Given the description of an element on the screen output the (x, y) to click on. 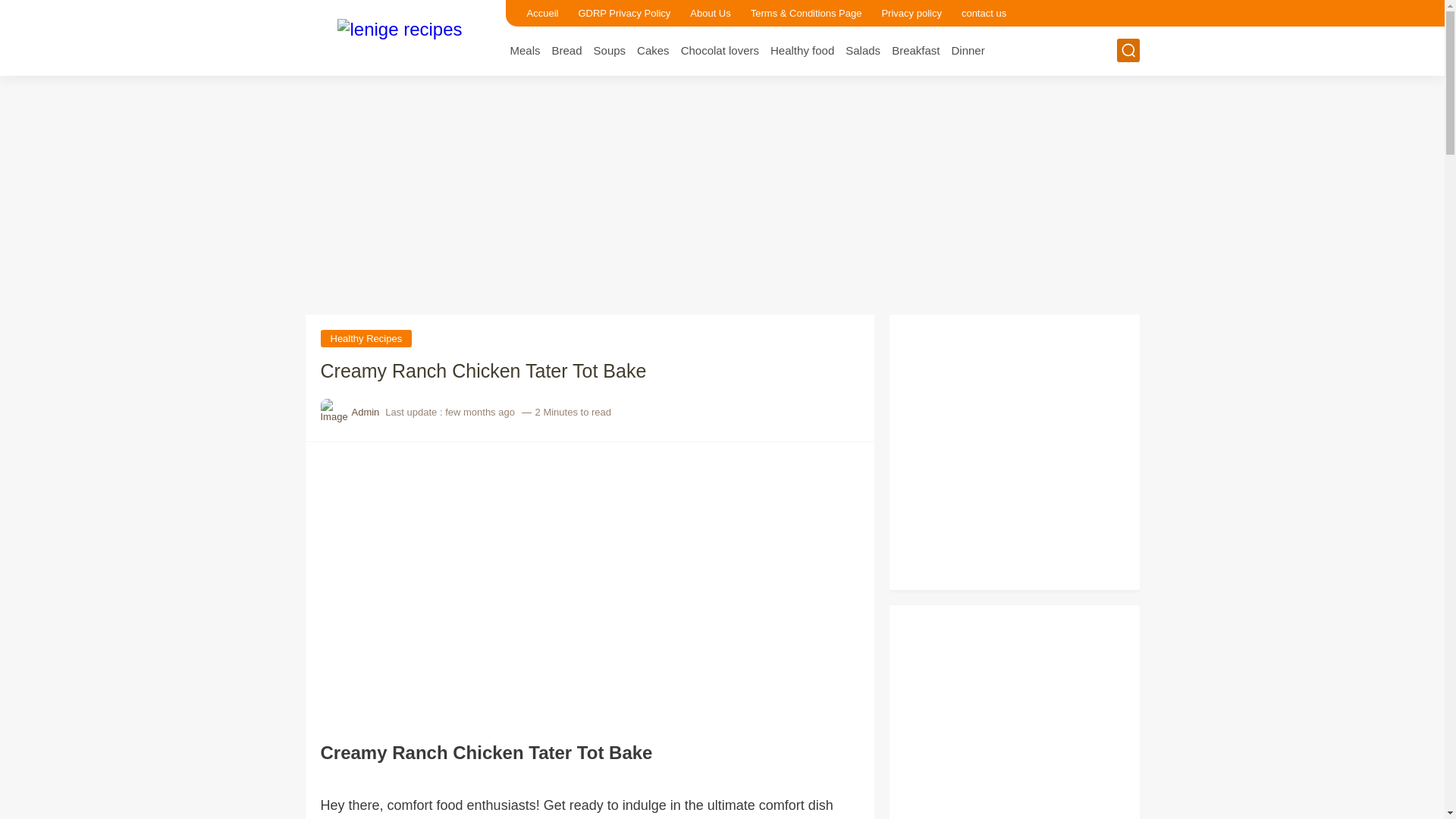
Soups (610, 50)
Chocolat lovers (719, 50)
Meals (524, 50)
Dinner (967, 50)
lenige recipes (399, 36)
About Us (710, 12)
Chocolat lovers (719, 50)
Soups (610, 50)
Meals (524, 50)
Dinner (967, 50)
Breakfast (915, 50)
Bread (566, 50)
Healthy Recipes (366, 338)
Cakes (653, 50)
Healthy food (802, 50)
